Given the description of an element on the screen output the (x, y) to click on. 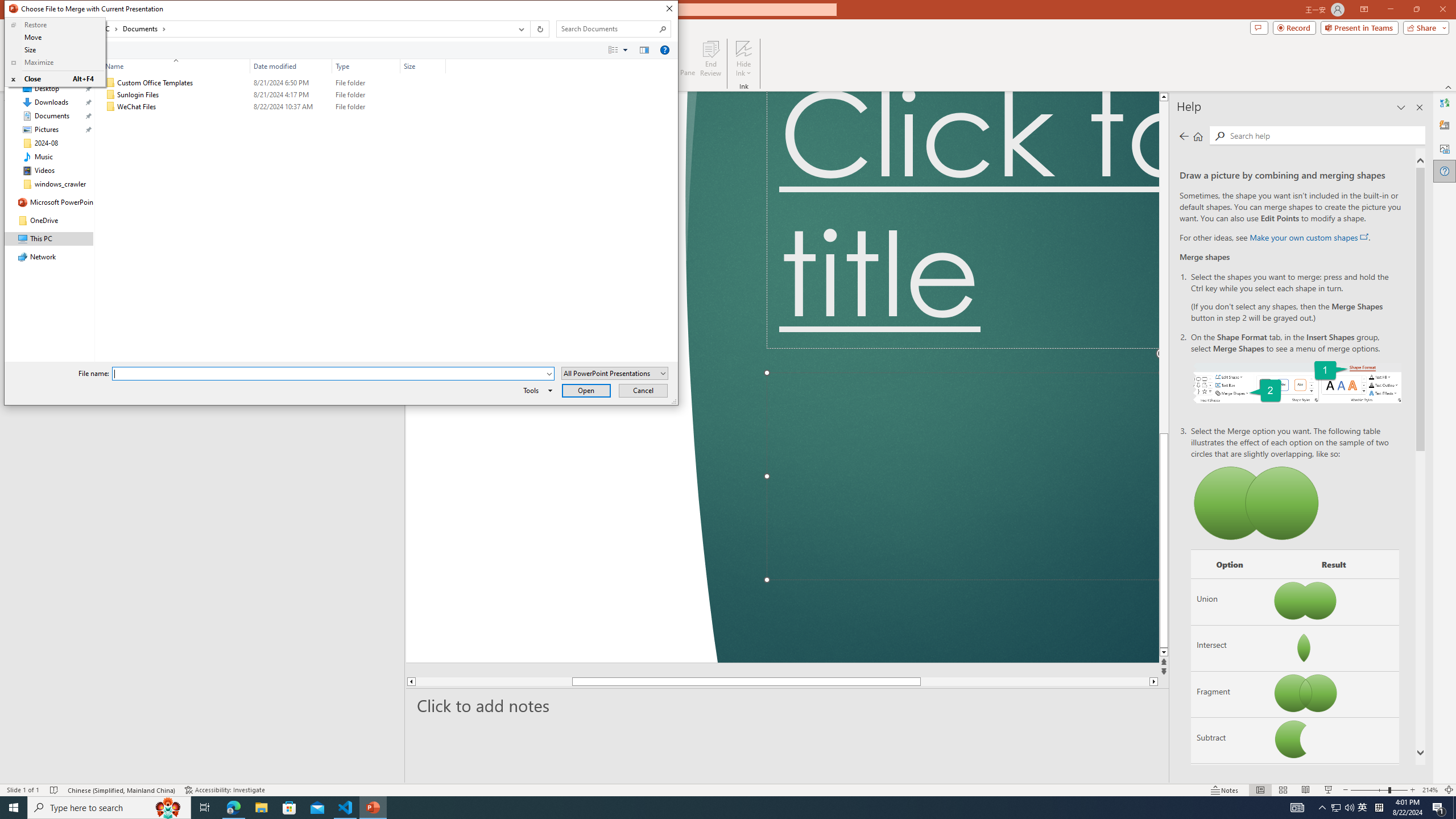
Size (54, 49)
Tray Input Indicator - Chinese (Simplified, China) (1378, 807)
Back (Alt + Left Arrow) (15, 28)
Accessibility Checker Accessibility: Investigate (226, 790)
Cancel (643, 390)
Line up (1245, 96)
Show desktop (1454, 807)
Task Pane Options (1400, 107)
Action Center, 1 new notification (1439, 807)
Sunlogin Files (273, 94)
Search highlights icon opens search home window (167, 807)
Microsoft Edge - 1 running window (233, 807)
